Given the description of an element on the screen output the (x, y) to click on. 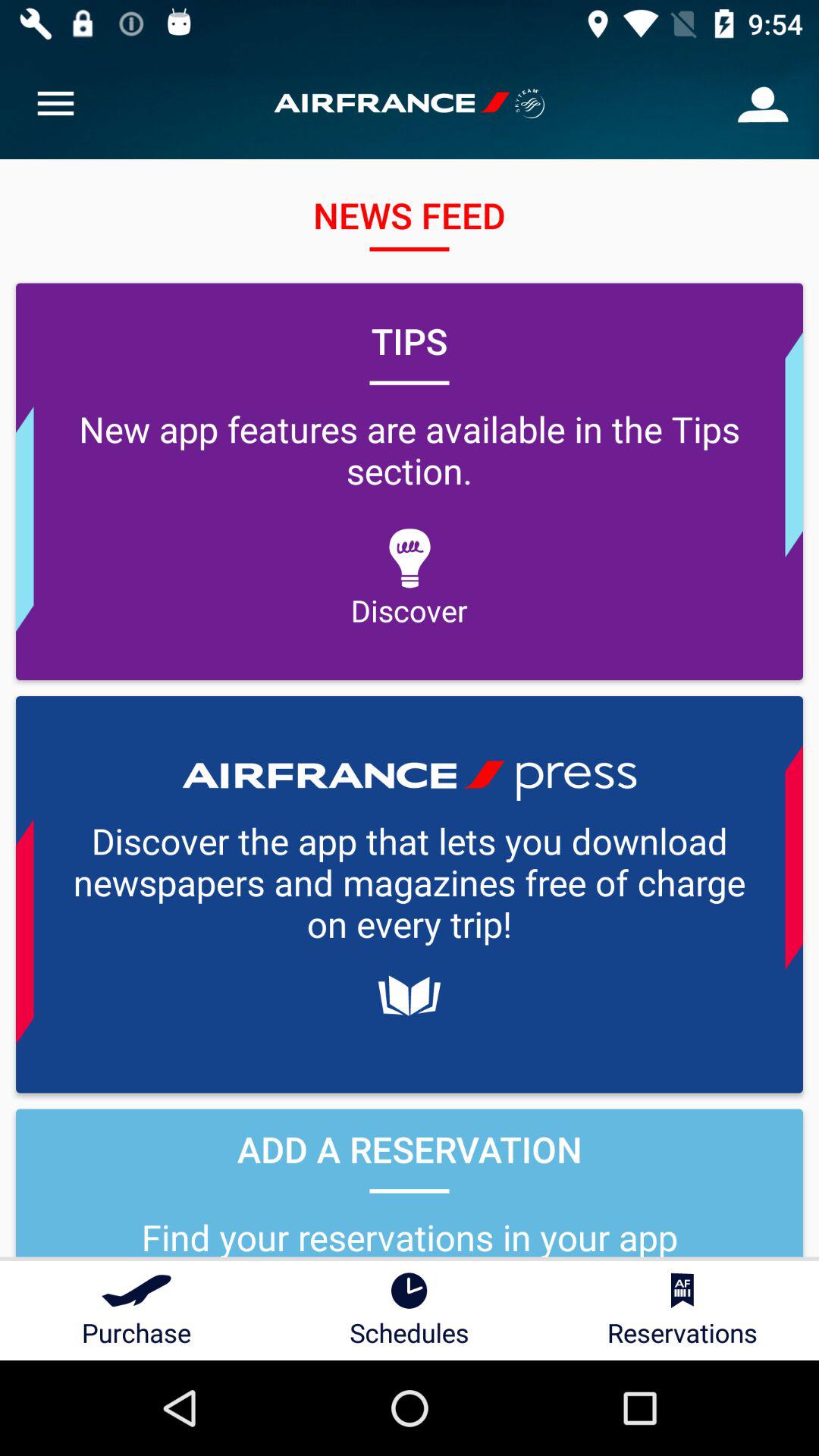
open the item to the right of purchase (409, 1310)
